Given the description of an element on the screen output the (x, y) to click on. 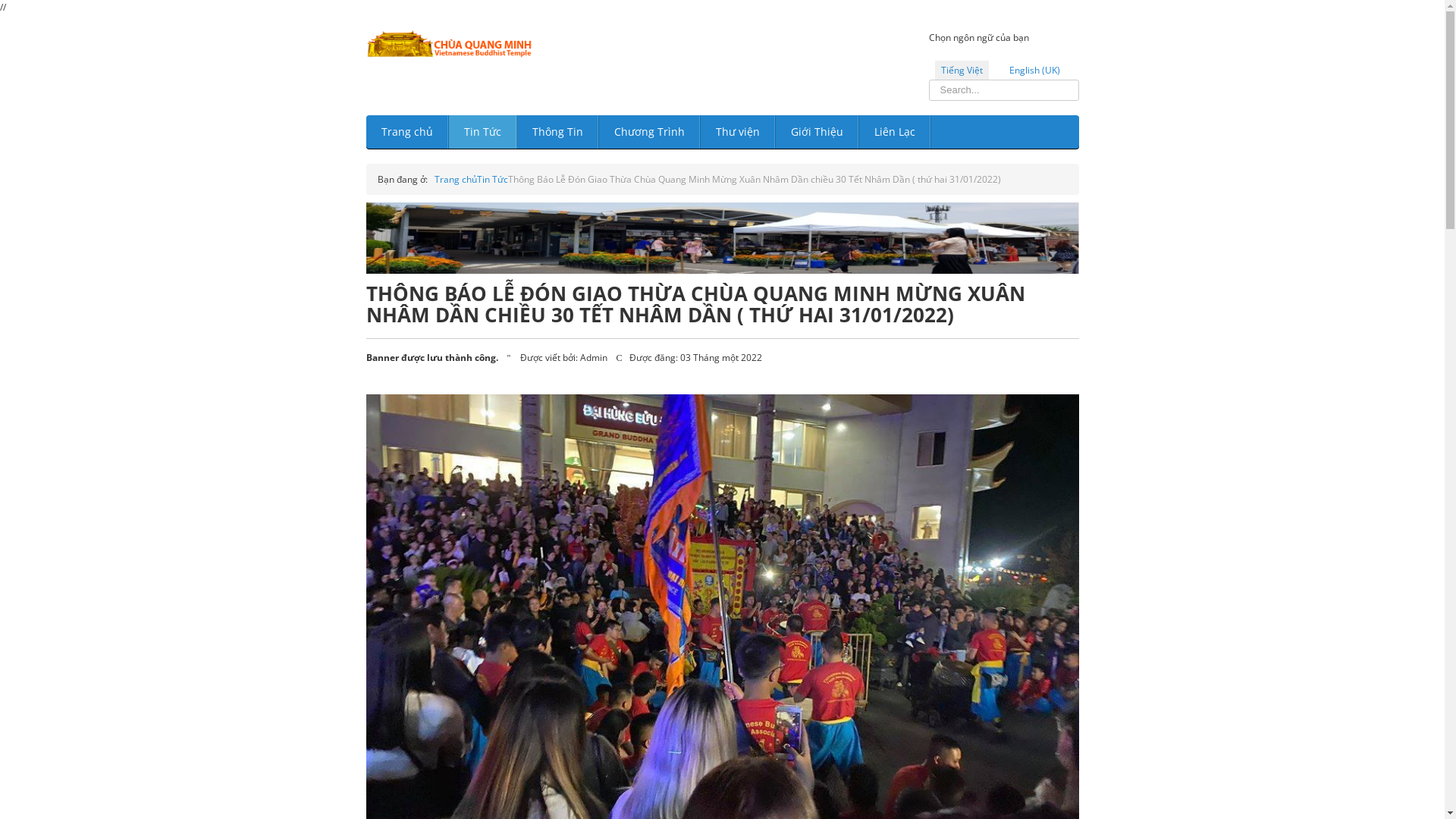
English (UK) Element type: text (1033, 69)
